Given the description of an element on the screen output the (x, y) to click on. 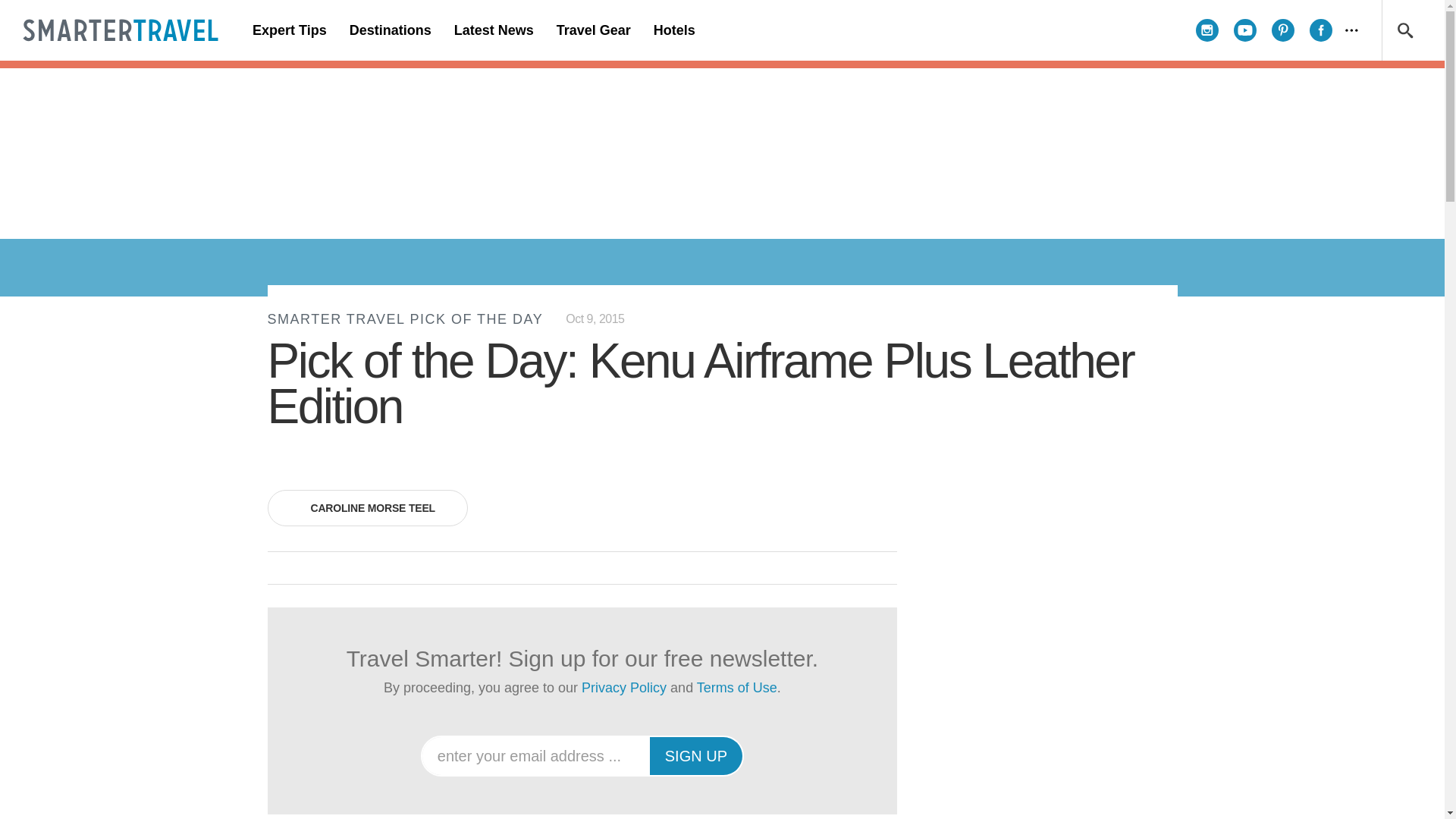
Expert Tips (289, 30)
Hotels (674, 30)
Destinations (389, 30)
Latest News (493, 30)
Travel Gear (593, 30)
